Given the description of an element on the screen output the (x, y) to click on. 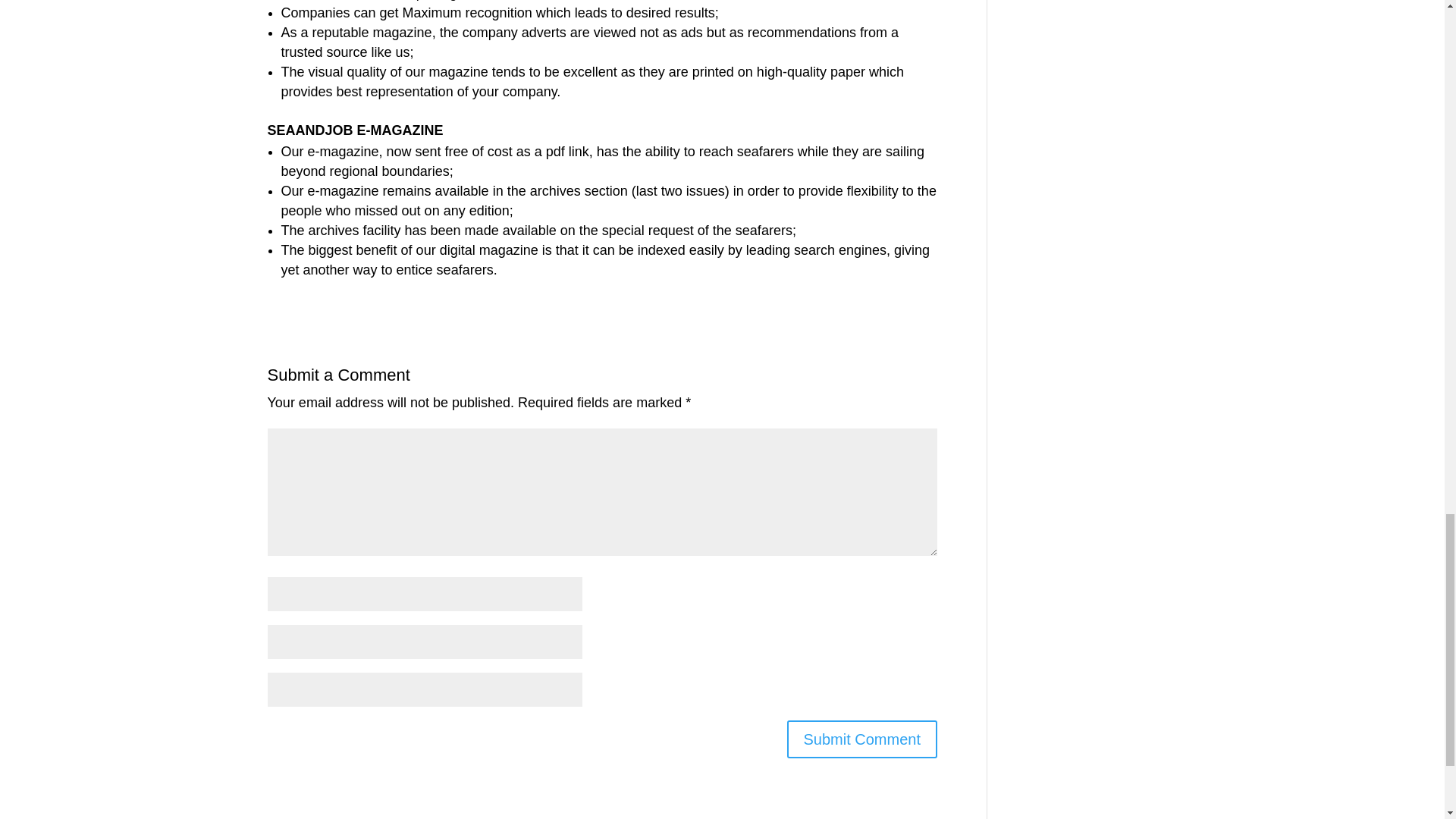
Submit Comment (862, 739)
Submit Comment (862, 739)
